Given the description of an element on the screen output the (x, y) to click on. 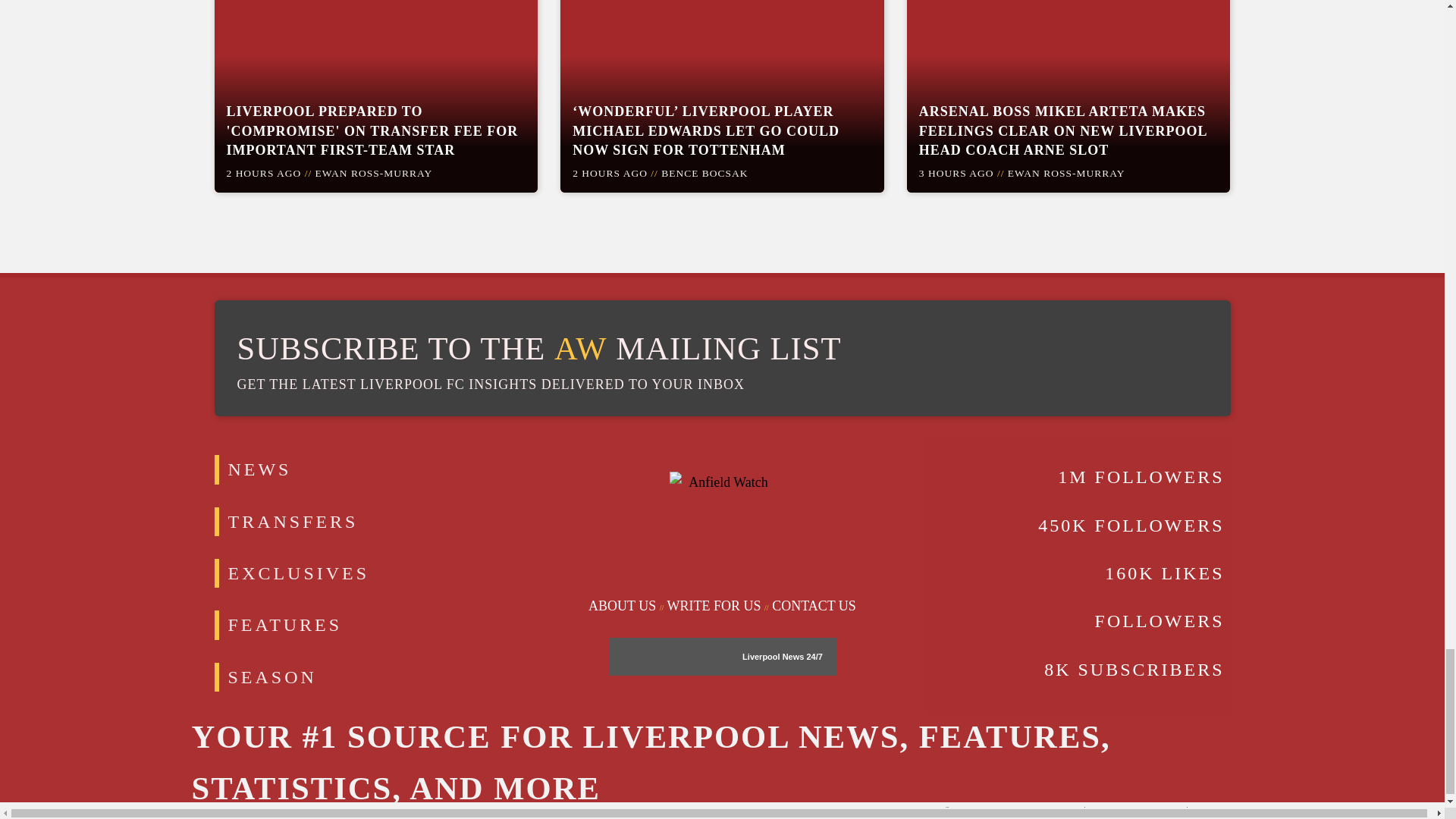
Click here for more Liverpool news from NewsNow (772, 655)
Click here for more Liverpool news from NewsNow (812, 655)
Click here for more Liverpool news from NewsNow (668, 656)
